Given the description of an element on the screen output the (x, y) to click on. 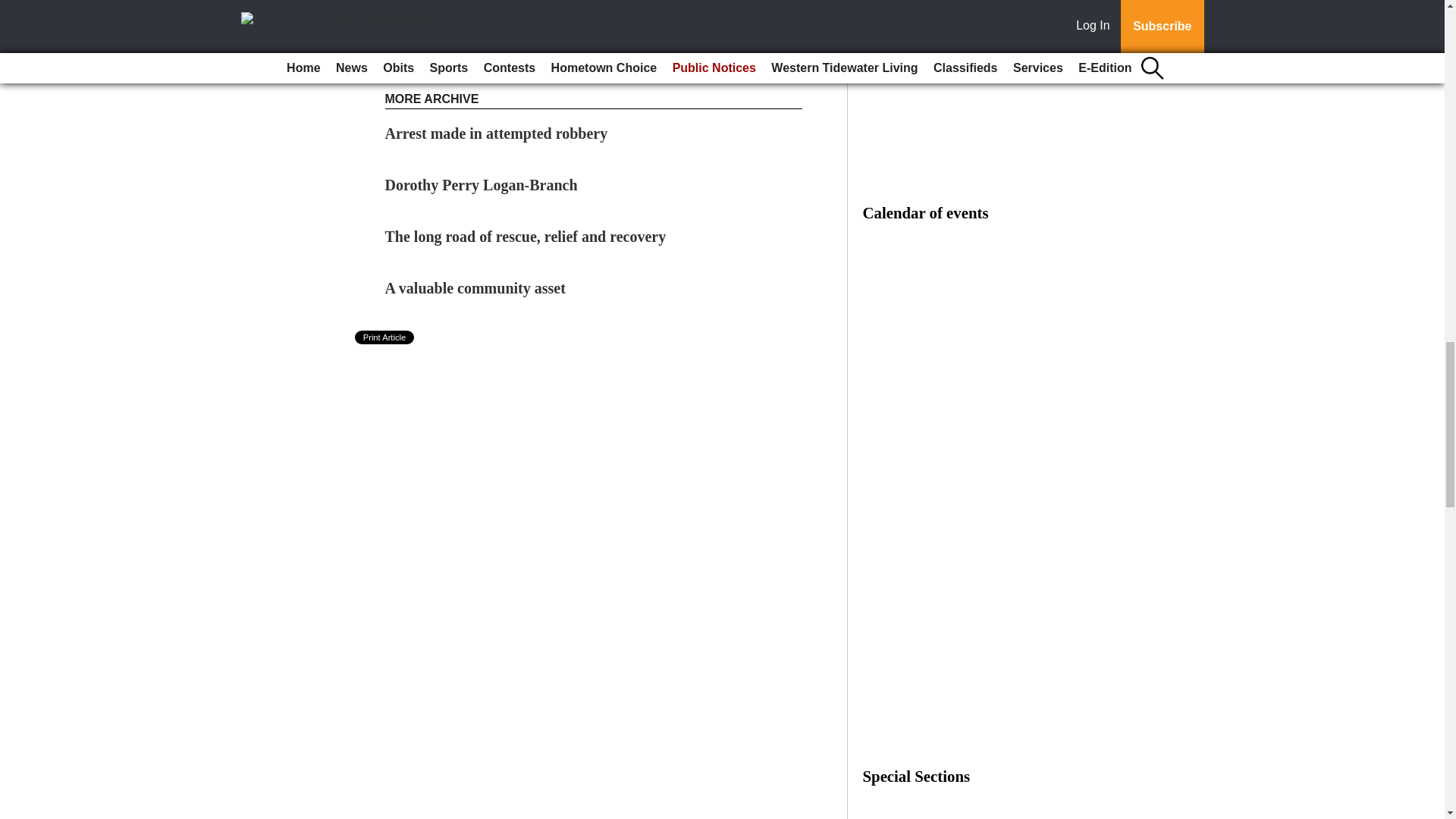
Dorothy Perry Logan-Branch (481, 184)
Arrest made in attempted robbery (496, 133)
The long road of rescue, relief and recovery (525, 236)
A valuable community asset (475, 288)
Dorothy Perry Logan-Branch (481, 184)
Arrest made in attempted robbery (496, 133)
The long road of rescue, relief and recovery (525, 236)
Print Article (384, 336)
A valuable community asset (475, 288)
